Given the description of an element on the screen output the (x, y) to click on. 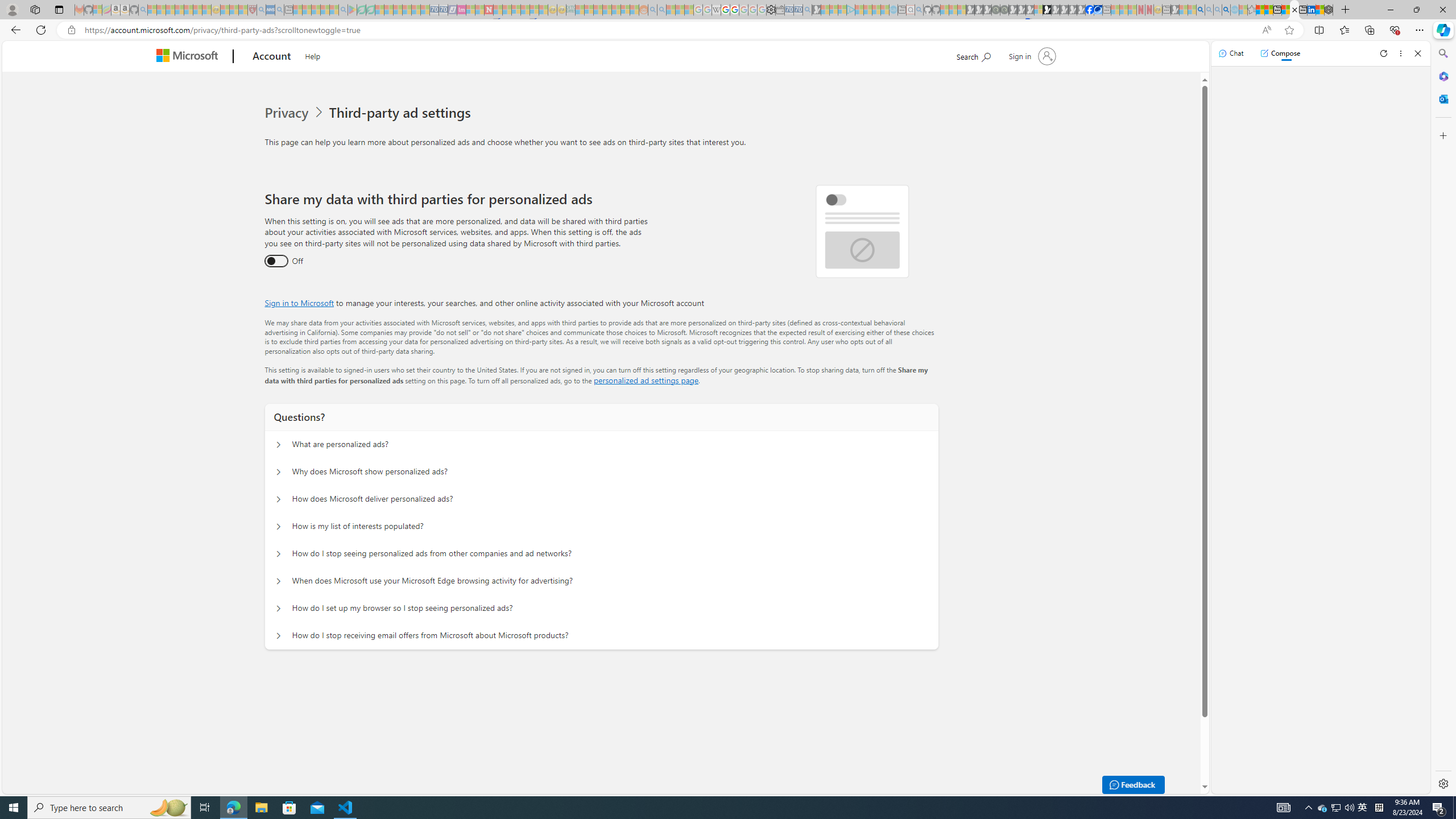
Nordace | Facebook (1089, 9)
Bing AI - Search (1200, 9)
Questions? How is my list of interests populated? (278, 526)
